Given the description of an element on the screen output the (x, y) to click on. 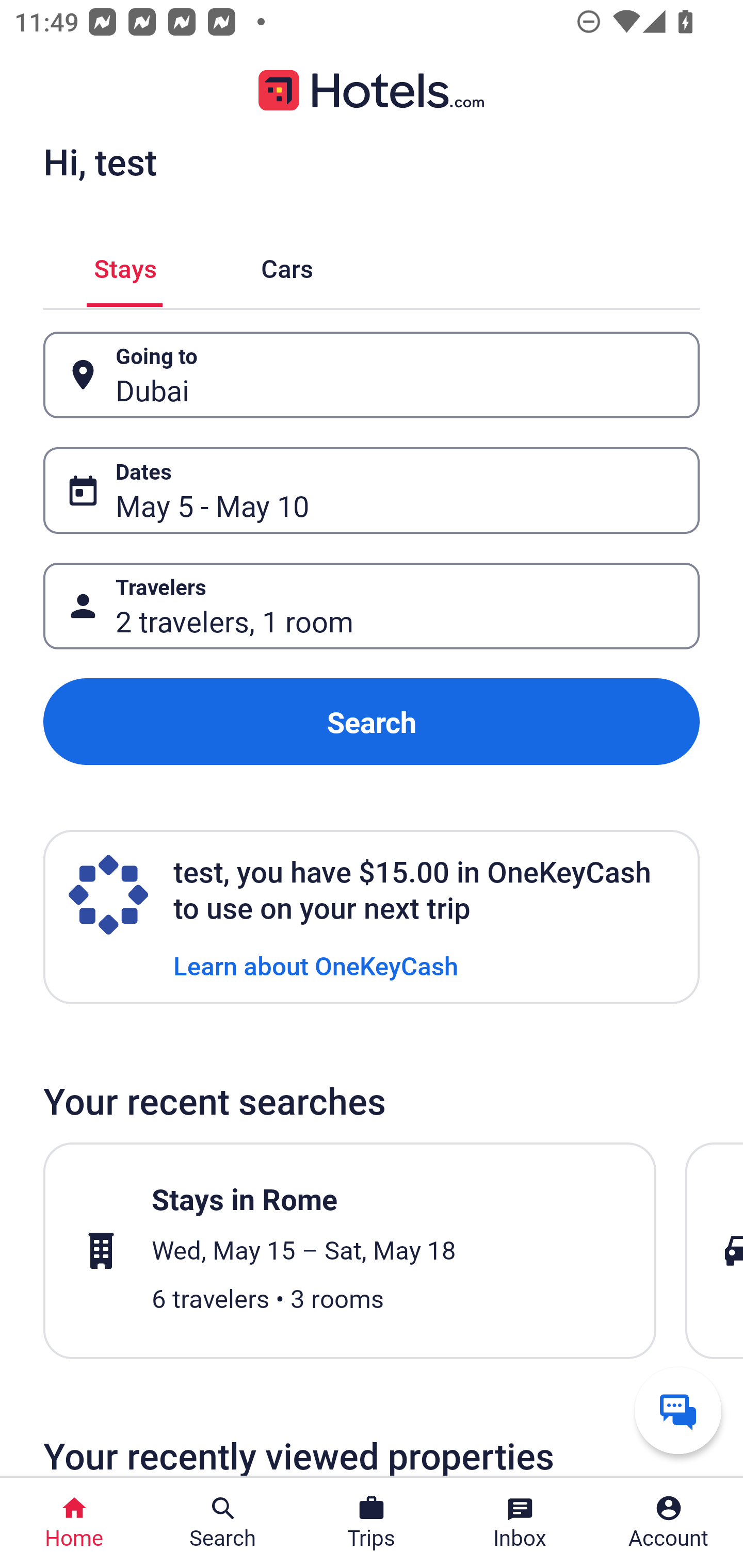
Hi, test (99, 161)
Cars (286, 265)
Going to Button Dubai (371, 375)
Dates Button May 5 - May 10 (371, 489)
Travelers Button 2 travelers, 1 room (371, 605)
Search (371, 721)
Learn about OneKeyCash Learn about OneKeyCash Link (315, 964)
Get help from a virtual agent (677, 1410)
Search Search Button (222, 1522)
Trips Trips Button (371, 1522)
Inbox Inbox Button (519, 1522)
Account Profile. Button (668, 1522)
